Given the description of an element on the screen output the (x, y) to click on. 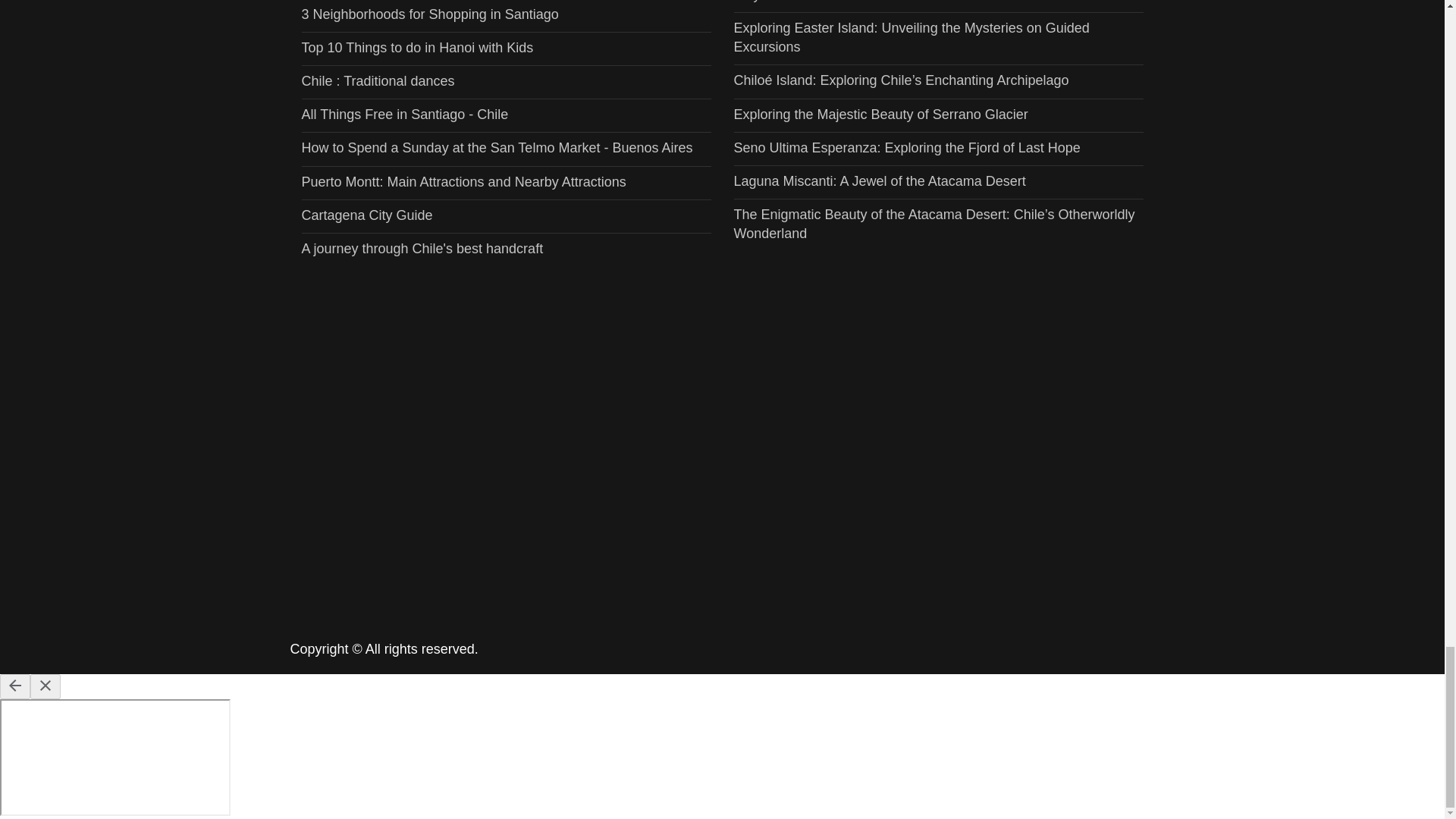
Cartagena City Guide (366, 215)
Chile : Traditional dances (377, 80)
Puerto Montt: Main Attractions and Nearby Attractions (463, 181)
How to Spend a Sunday at the San Telmo Market - Buenos Aires (497, 147)
A journey through Chile's best handcraft (422, 248)
All Things Free in Santiago - Chile (404, 114)
Top 10 Things to do in Hanoi with Kids (417, 47)
3 Neighborhoods for Shopping in Santiago (430, 14)
